Given the description of an element on the screen output the (x, y) to click on. 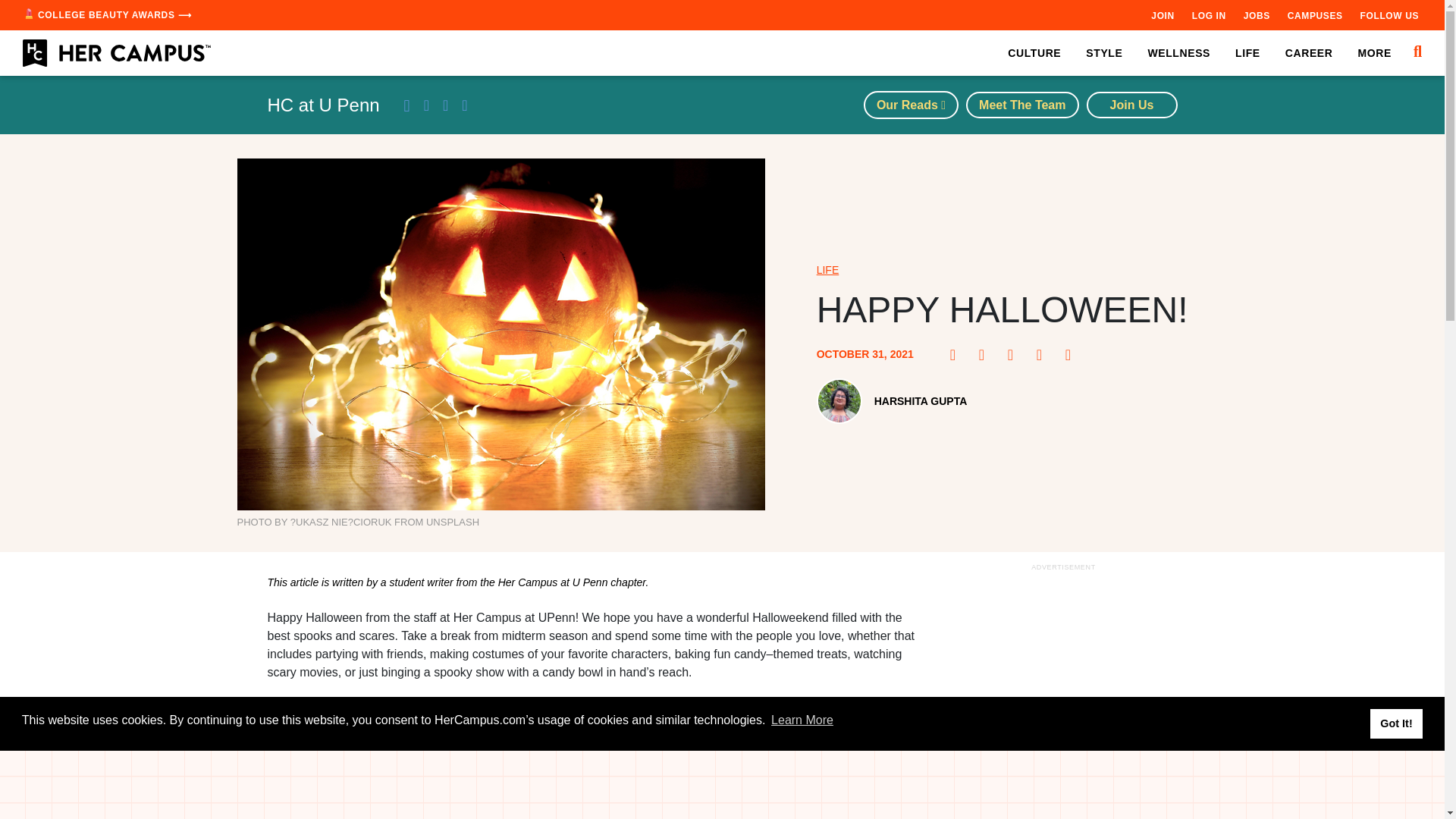
LinkedIn (1043, 354)
LOG IN (1208, 15)
Got It! (1396, 723)
Twitter (1015, 354)
JOBS (1256, 15)
3rd party ad content (722, 785)
3rd party ad content (1062, 696)
Facebook (957, 354)
Happy Halloween! 3 (596, 786)
JOIN (1162, 15)
CAMPUSES (1314, 15)
Pinterest (986, 354)
Email (1072, 354)
